Given the description of an element on the screen output the (x, y) to click on. 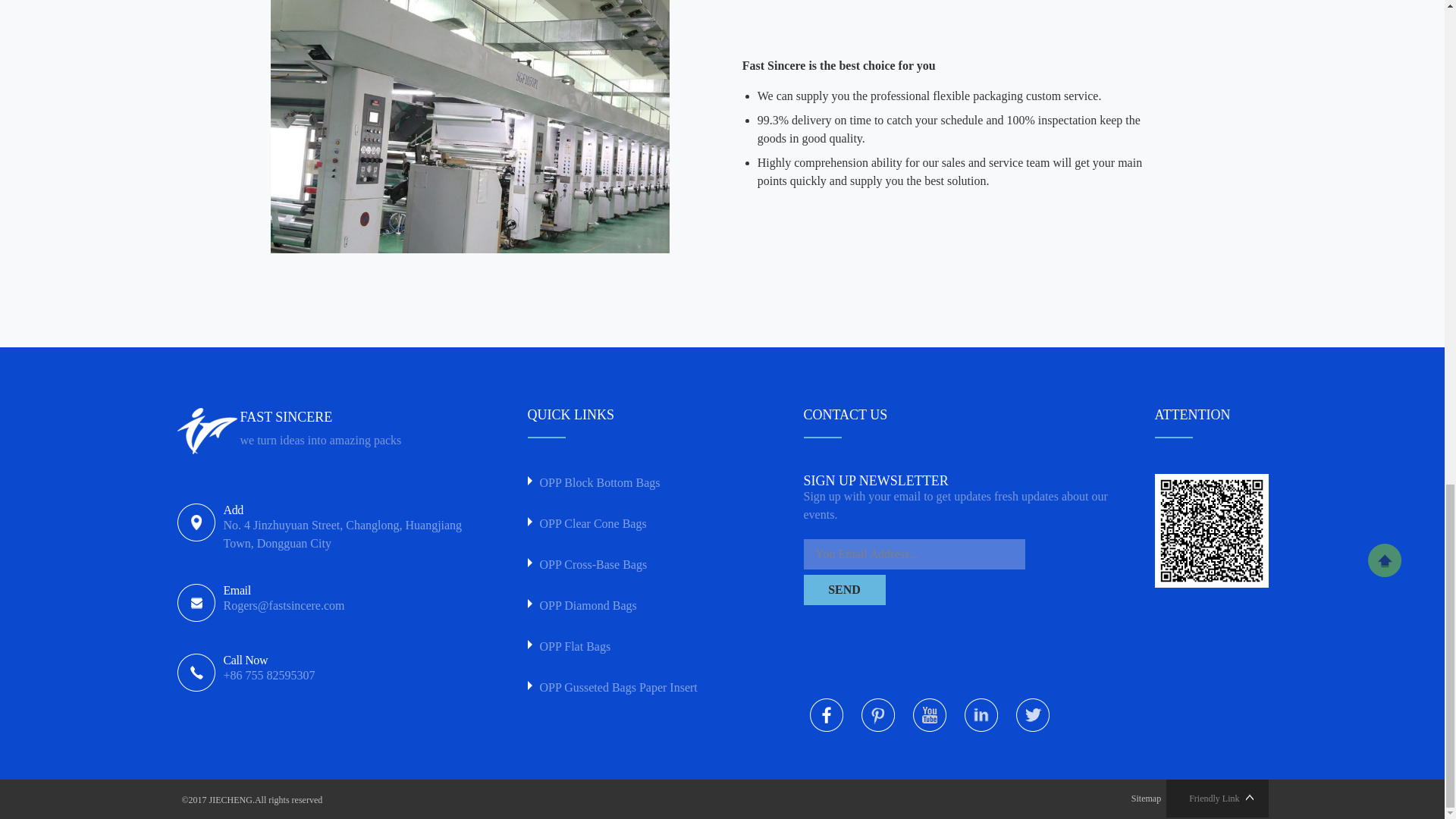
linkedin (981, 714)
OPP Diamond Bags (636, 606)
OPP Clear Cone Bags (636, 524)
SEND (844, 589)
add (346, 528)
email (346, 599)
tel (346, 669)
pinterest (878, 714)
OPP Flat Bags (636, 647)
facebook (825, 714)
OPP Block Bottom Bags (636, 483)
OPP Cross-Base Bags (636, 565)
twitter (1032, 714)
youtube (929, 714)
